Given the description of an element on the screen output the (x, y) to click on. 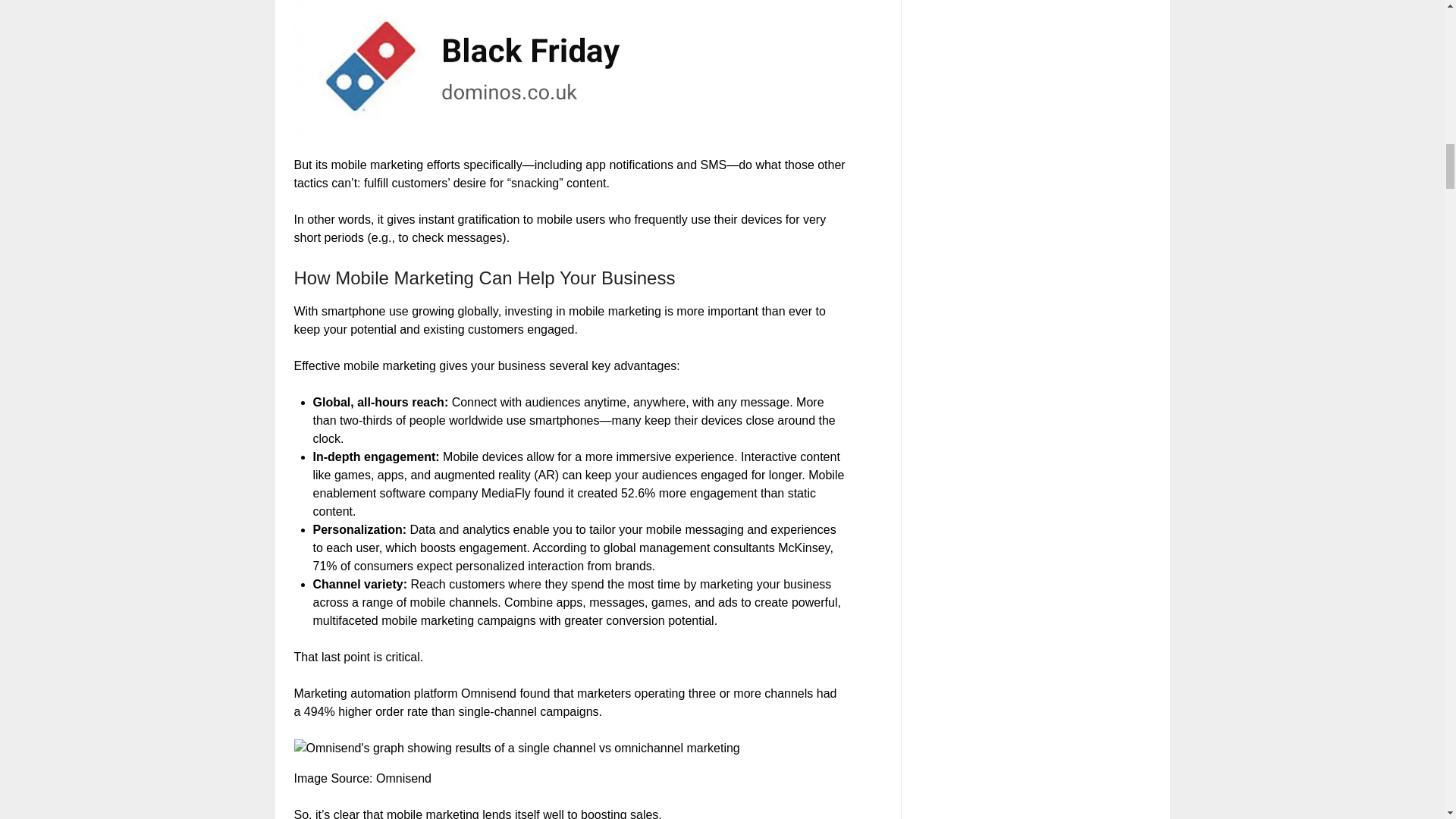
smartphone use growing globally (409, 310)
Omnisend (402, 778)
More than two-thirds (568, 410)
